Given the description of an element on the screen output the (x, y) to click on. 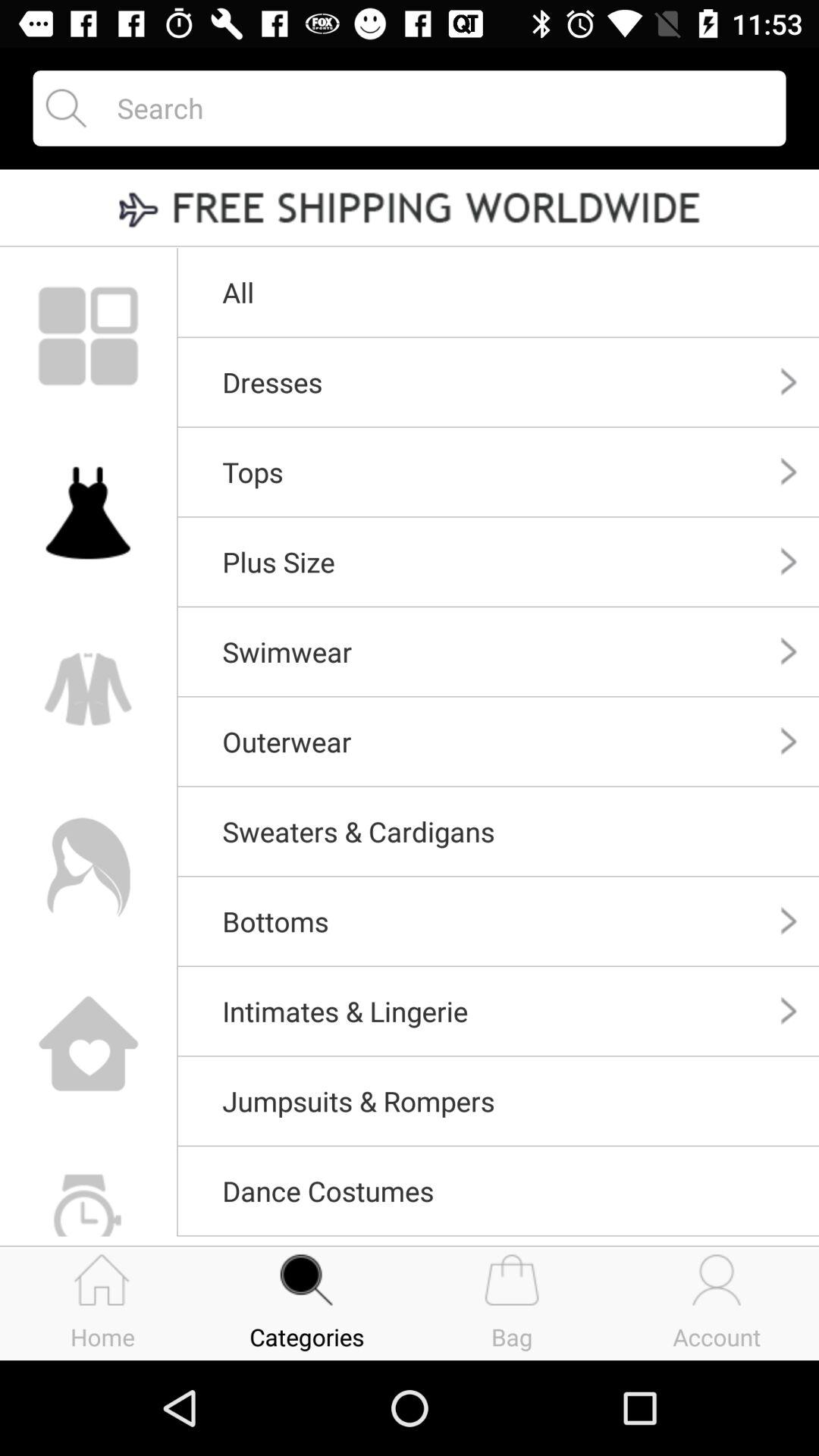
search (437, 108)
